Given the description of an element on the screen output the (x, y) to click on. 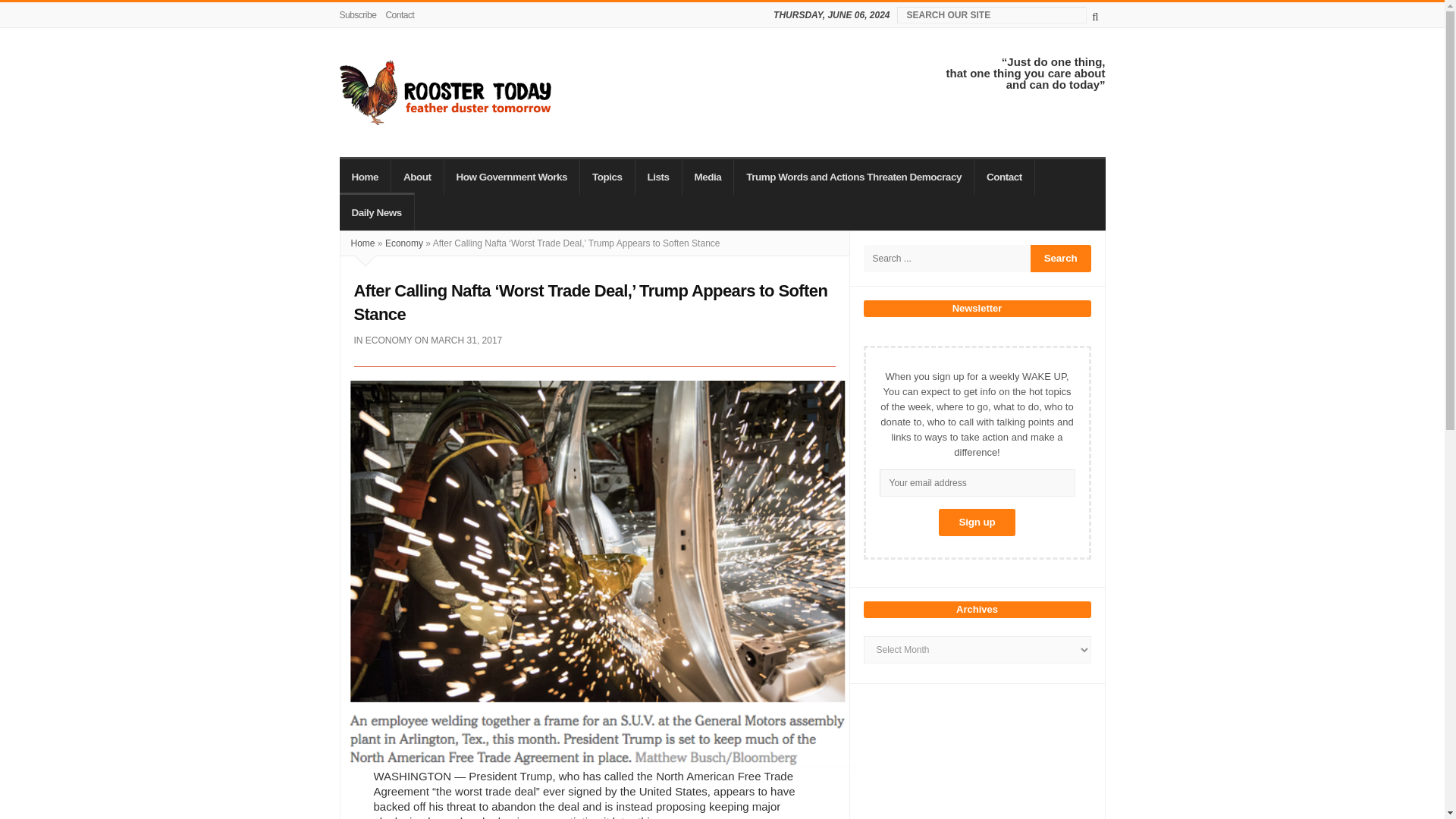
Contact (399, 14)
Search for: (946, 257)
Sign up (976, 522)
Topics (606, 175)
Subscribe (360, 14)
Home (365, 175)
About (417, 175)
Search (1060, 257)
Rooster Today (445, 92)
Search (1060, 257)
How Government Works (512, 175)
